Given the description of an element on the screen output the (x, y) to click on. 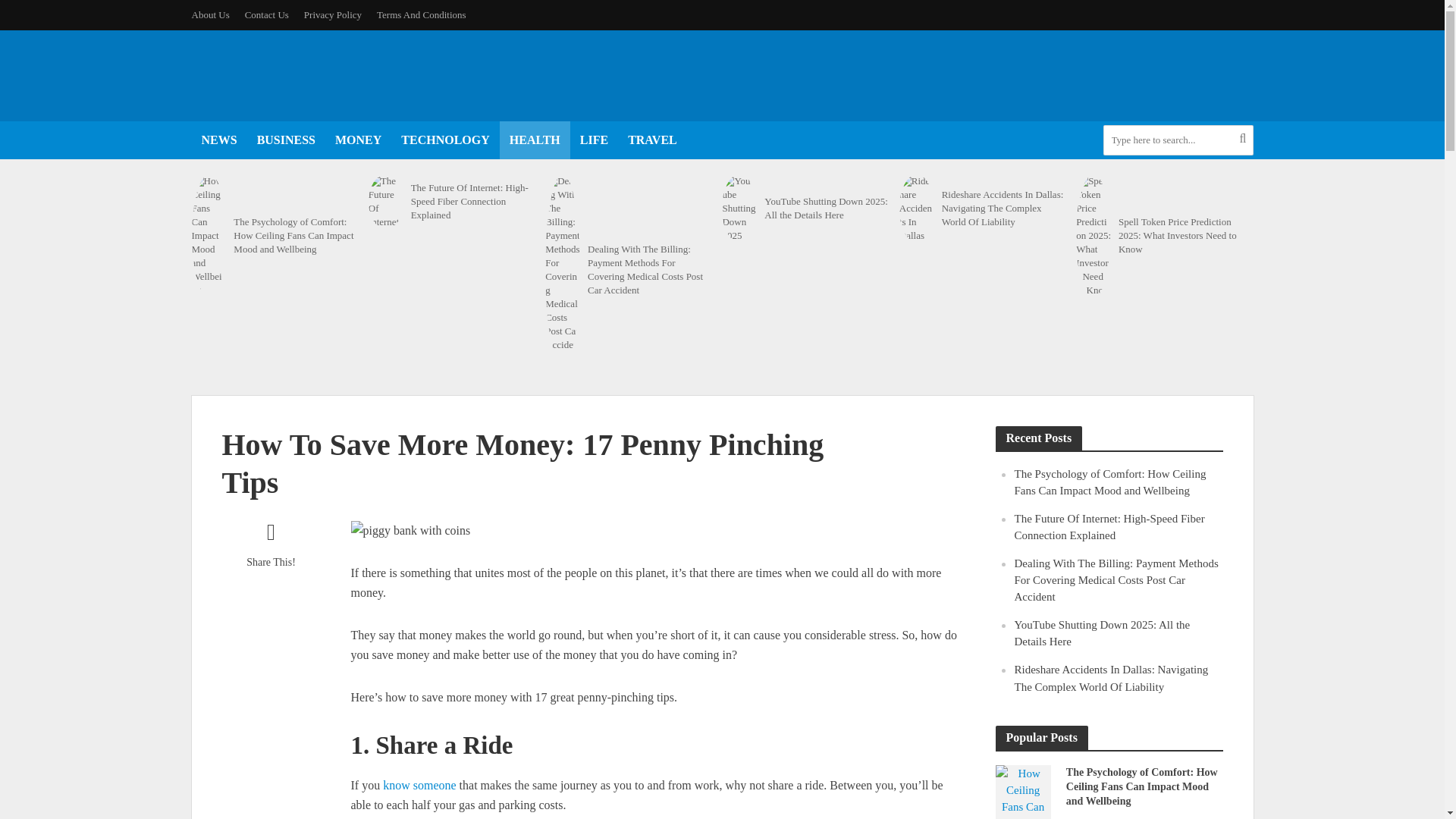
Privacy Policy (333, 15)
YouTube Shutting Down 2025: All the Details Here (826, 207)
MONEY (357, 139)
NEWS (218, 139)
BUSINESS (285, 139)
Terms And Conditions (421, 15)
